Given the description of an element on the screen output the (x, y) to click on. 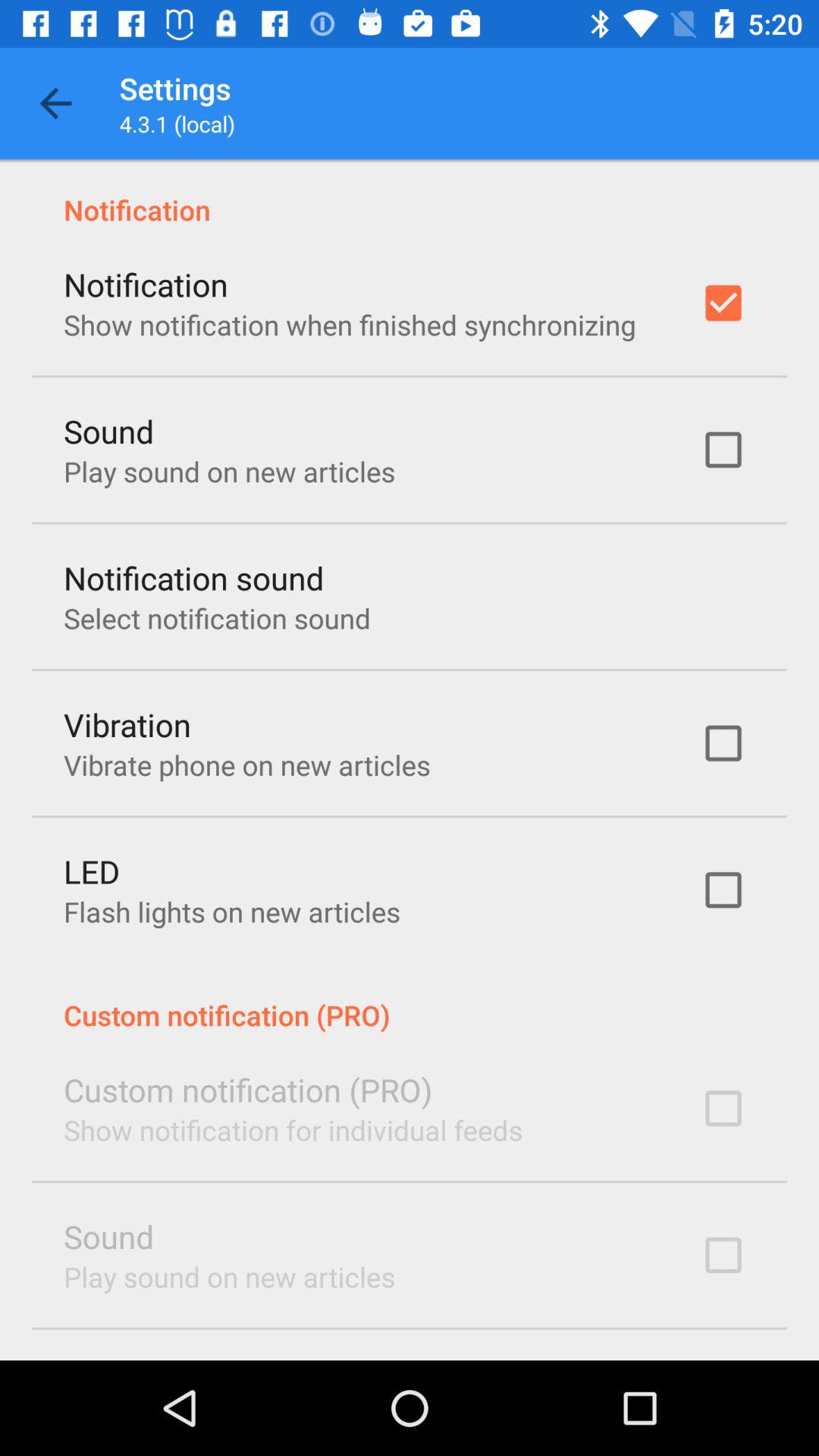
choose vibration item (127, 724)
